Given the description of an element on the screen output the (x, y) to click on. 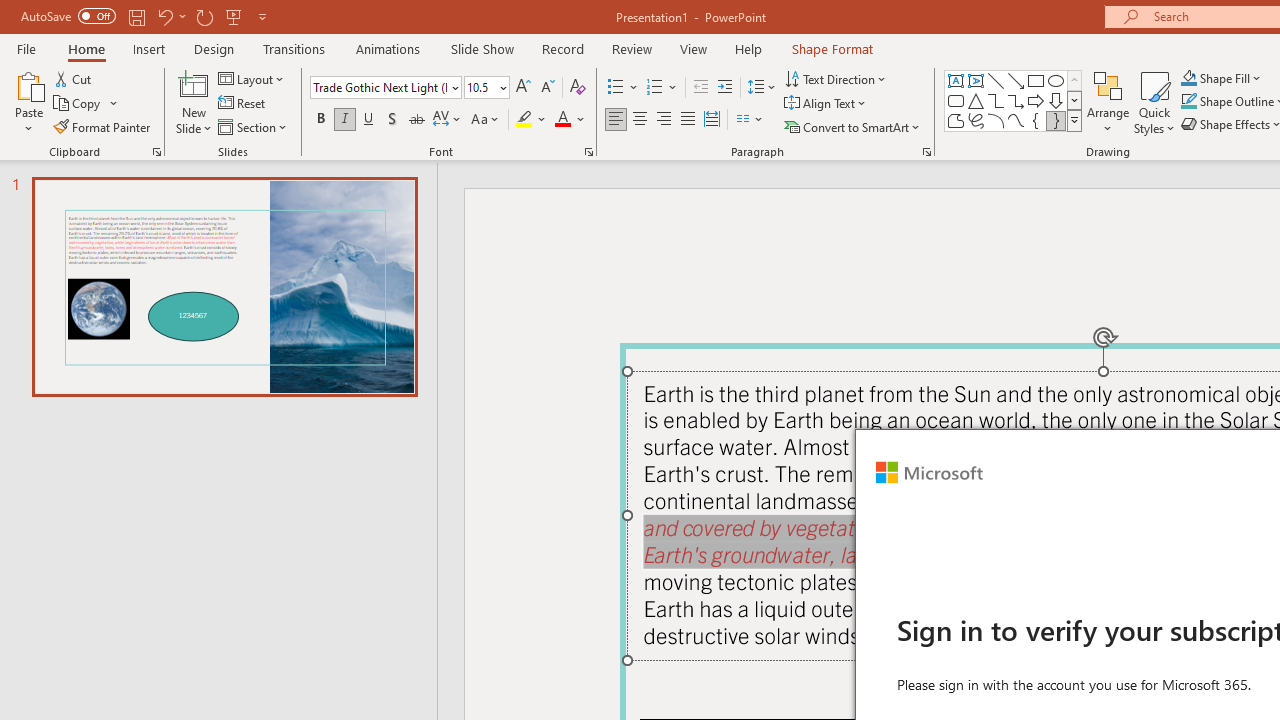
Shape Outline Teal, Accent 1 (1188, 101)
Text Highlight Color Yellow (524, 119)
AutomationID: ShapesInsertGallery (1014, 100)
Increase Font Size (522, 87)
Underline (369, 119)
Shape Format (832, 48)
Character Spacing (447, 119)
